Given the description of an element on the screen output the (x, y) to click on. 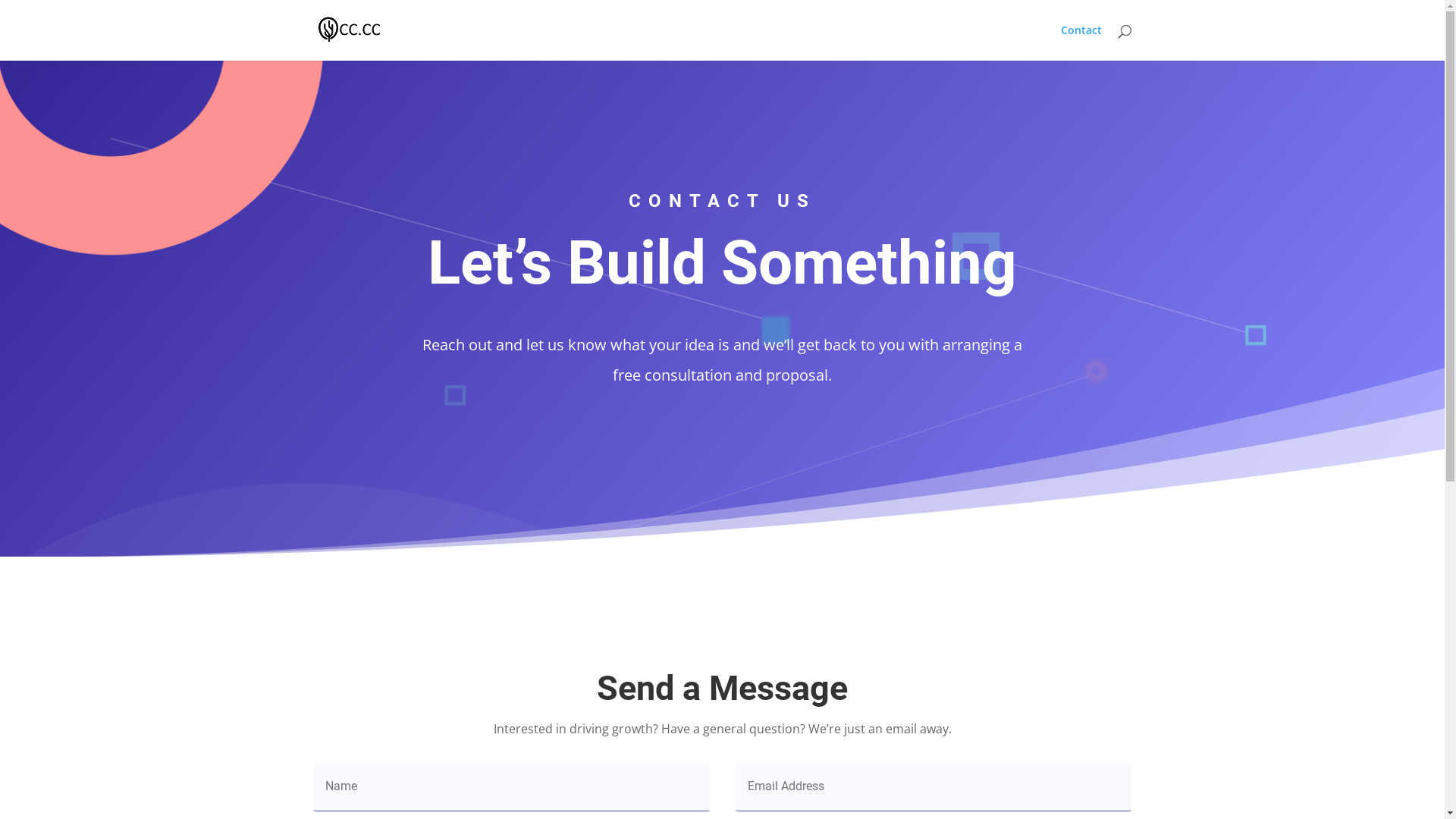
Contact Element type: text (1080, 42)
